Given the description of an element on the screen output the (x, y) to click on. 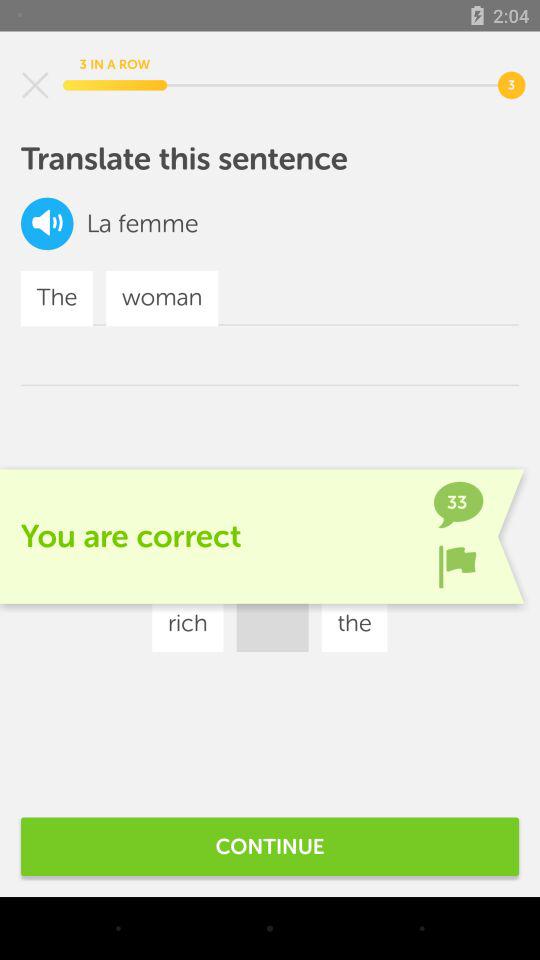
tap item above the woman item (158, 223)
